Given the description of an element on the screen output the (x, y) to click on. 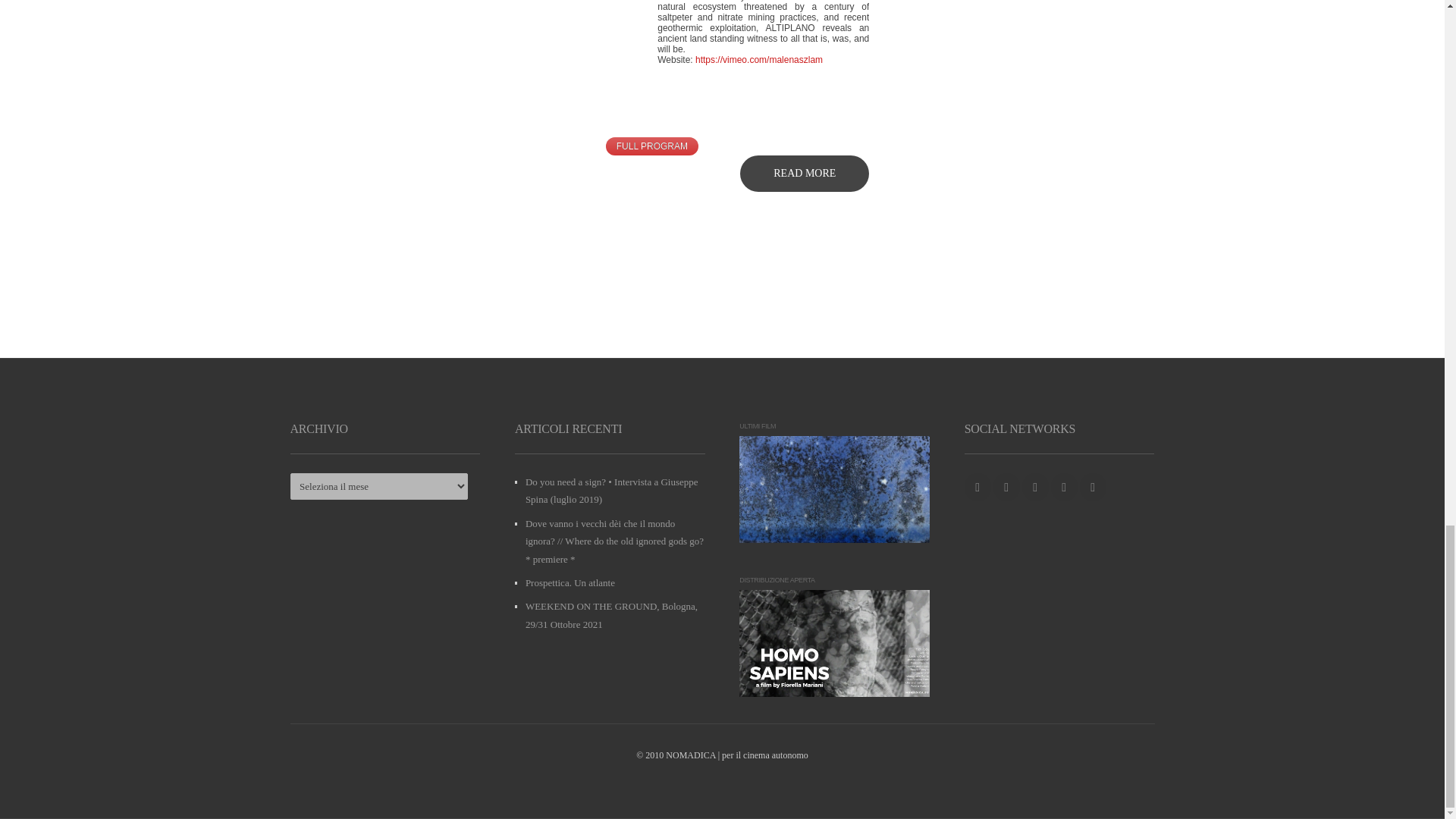
Prospettica. Un atlante (569, 582)
Instagram (1035, 487)
Vimeo (1093, 487)
Twitter (1006, 487)
READ MORE (804, 173)
Facebook (977, 487)
FULL PROGRAM (651, 146)
You Tube (1064, 487)
